Given the description of an element on the screen output the (x, y) to click on. 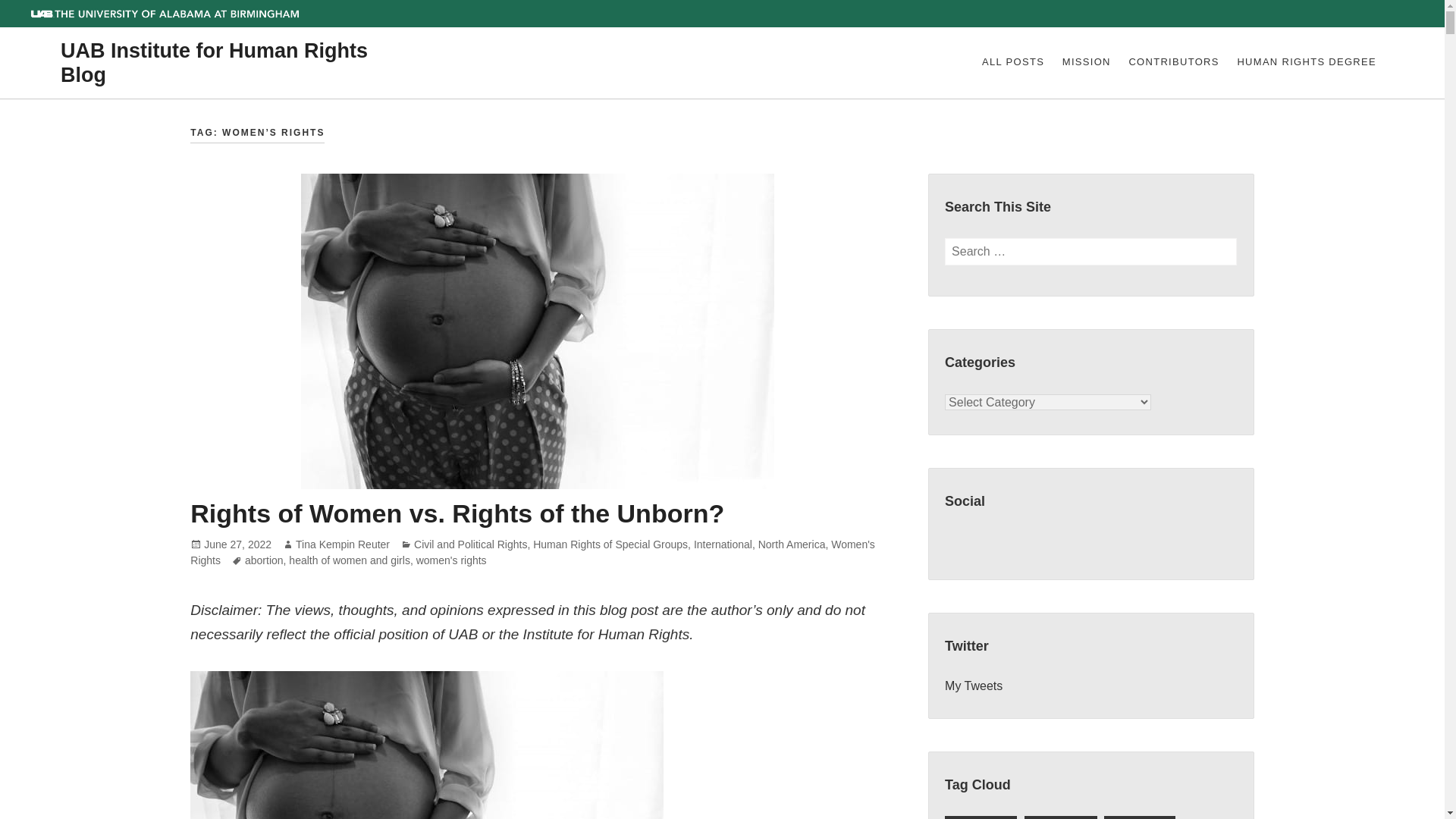
ALL POSTS (1012, 63)
CONTRIBUTORS (1173, 63)
Rights of Women vs. Rights of the Unborn? (456, 513)
abortion (263, 560)
UAB Institute for Human Rights Blog (214, 63)
North America (791, 544)
Tina Kempin Reuter (342, 544)
Civil and Political Rights (470, 544)
MISSION (1086, 63)
health of women and girls (349, 560)
International (723, 544)
HUMAN RIGHTS DEGREE (1305, 63)
Human Rights of Special Groups (609, 544)
